Given the description of an element on the screen output the (x, y) to click on. 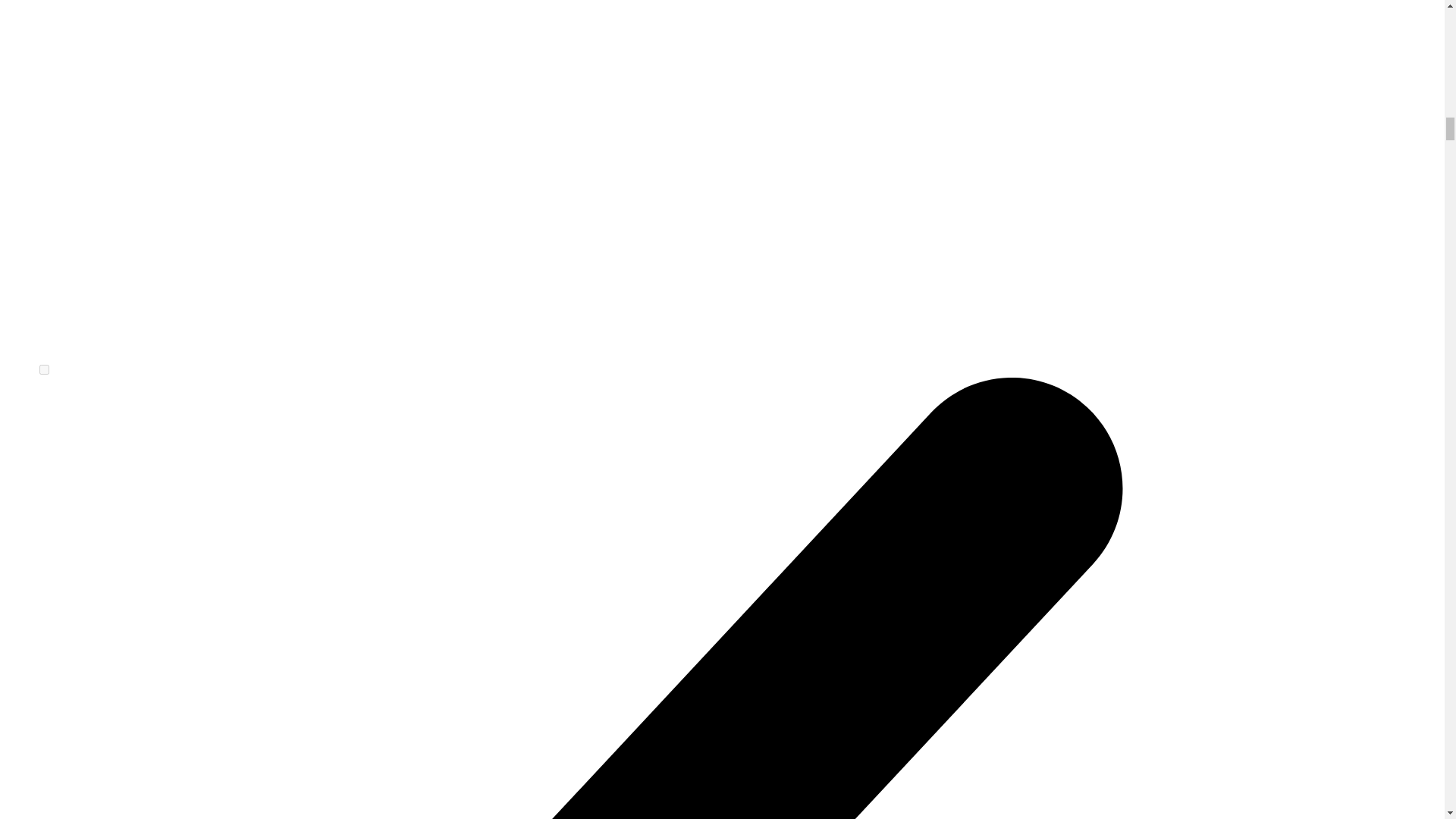
on (44, 369)
